Given the description of an element on the screen output the (x, y) to click on. 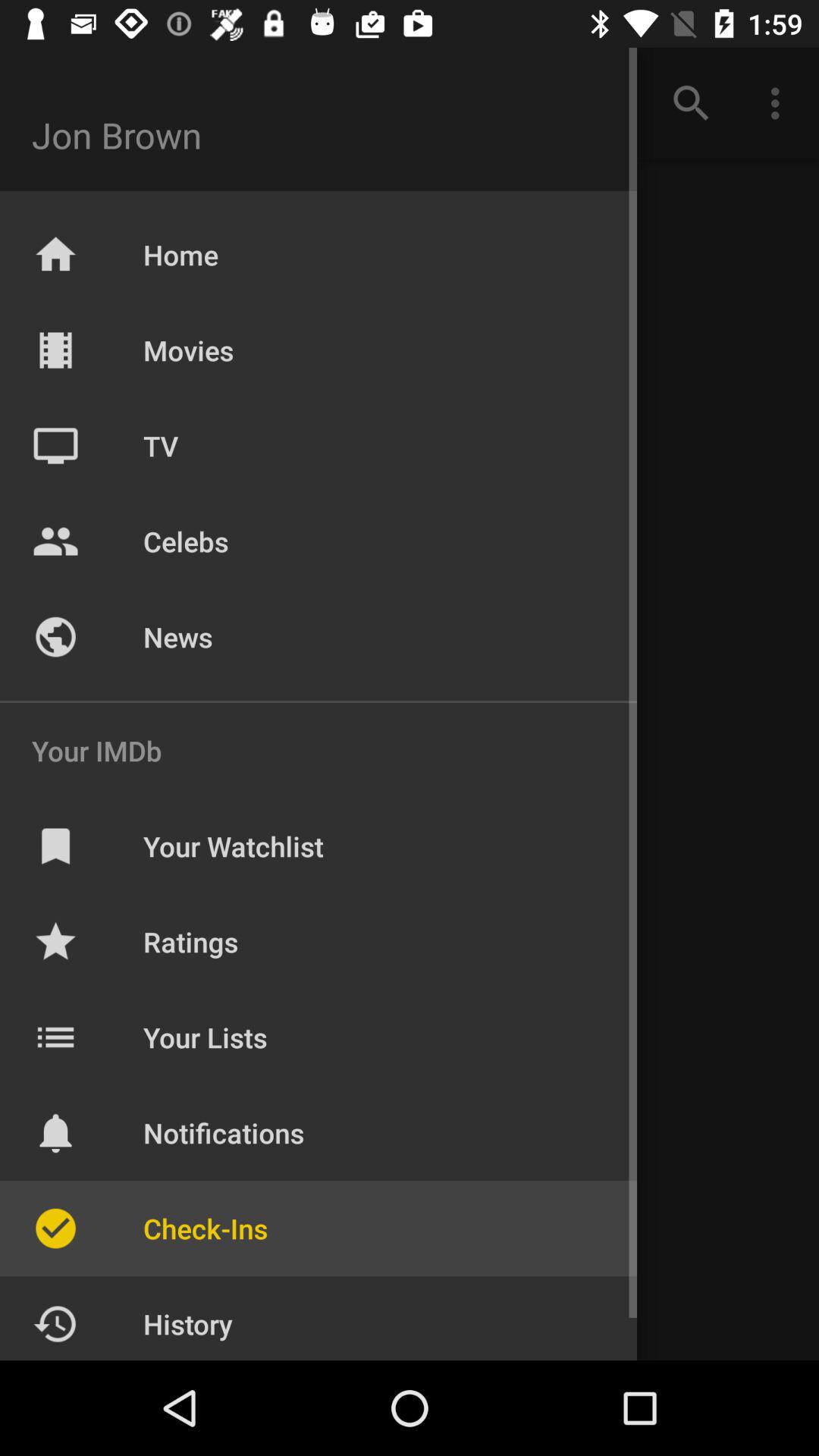
click on the button beside search icon (779, 103)
